Given the description of an element on the screen output the (x, y) to click on. 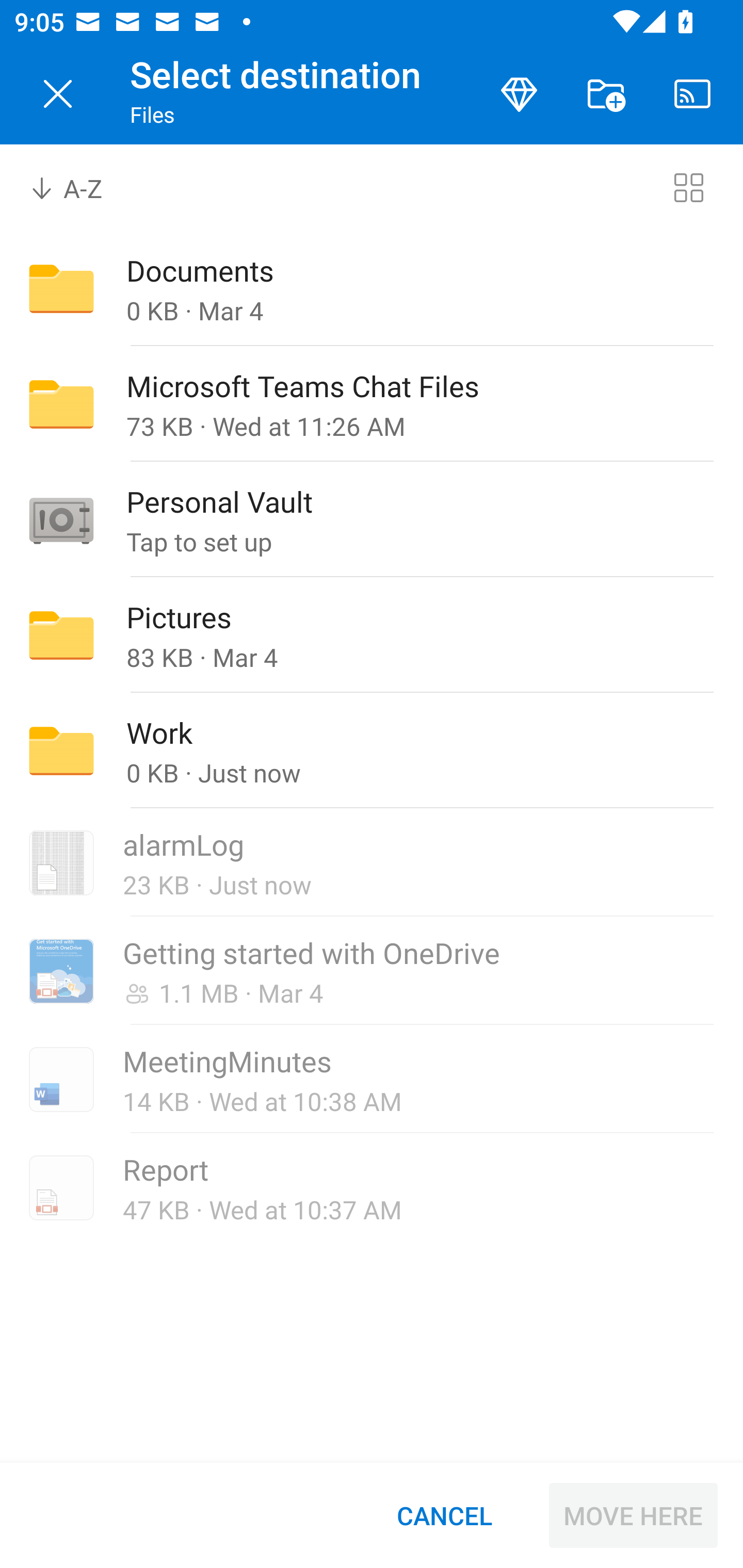
Close (57, 93)
Cast. Disconnected (692, 93)
Premium button (518, 93)
More actions button (605, 93)
A-Z Sort by combo box, sort by name, A to Z (80, 187)
Switch to tiles view (688, 187)
Folder Documents 0 KB · Mar 4 (371, 288)
Folder Personal Vault Tap to set up (371, 519)
Folder Pictures 83 KB · Mar 4 (371, 635)
Folder Work 0 KB · Just now (371, 751)
Document alarmLog 23 KB · Just now (371, 863)
Document Report 47 KB · Wed at 10:37 AM (371, 1187)
CANCEL (443, 1515)
MOVE HERE (633, 1515)
